Given the description of an element on the screen output the (x, y) to click on. 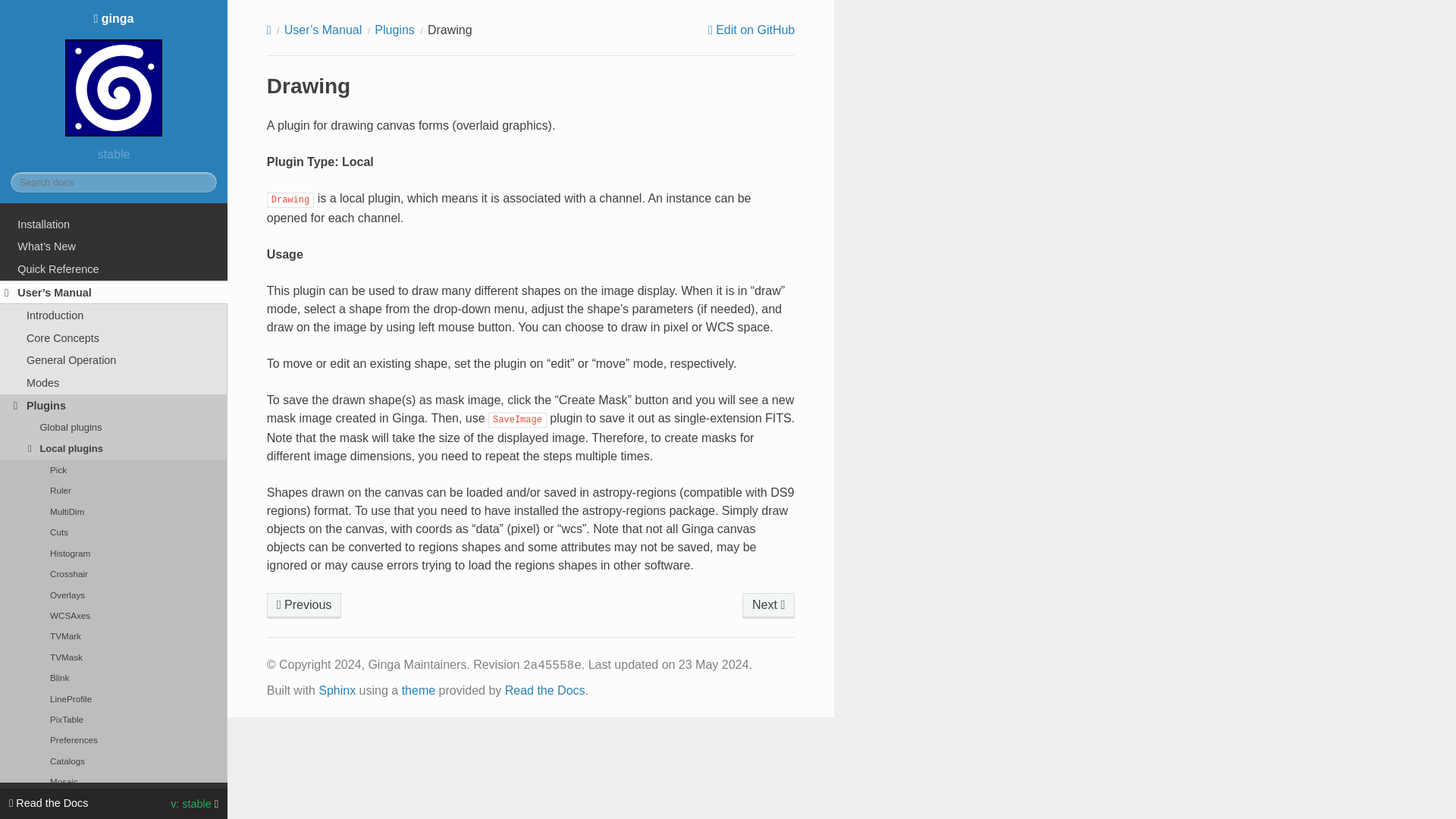
Global plugins (113, 426)
Histogram (113, 552)
General Operation (113, 360)
Catalogs (113, 761)
Preferences (113, 740)
PixTable (113, 719)
Blink (113, 677)
FBrowser (768, 605)
Mosaic (113, 781)
Local plugins (113, 448)
